Given the description of an element on the screen output the (x, y) to click on. 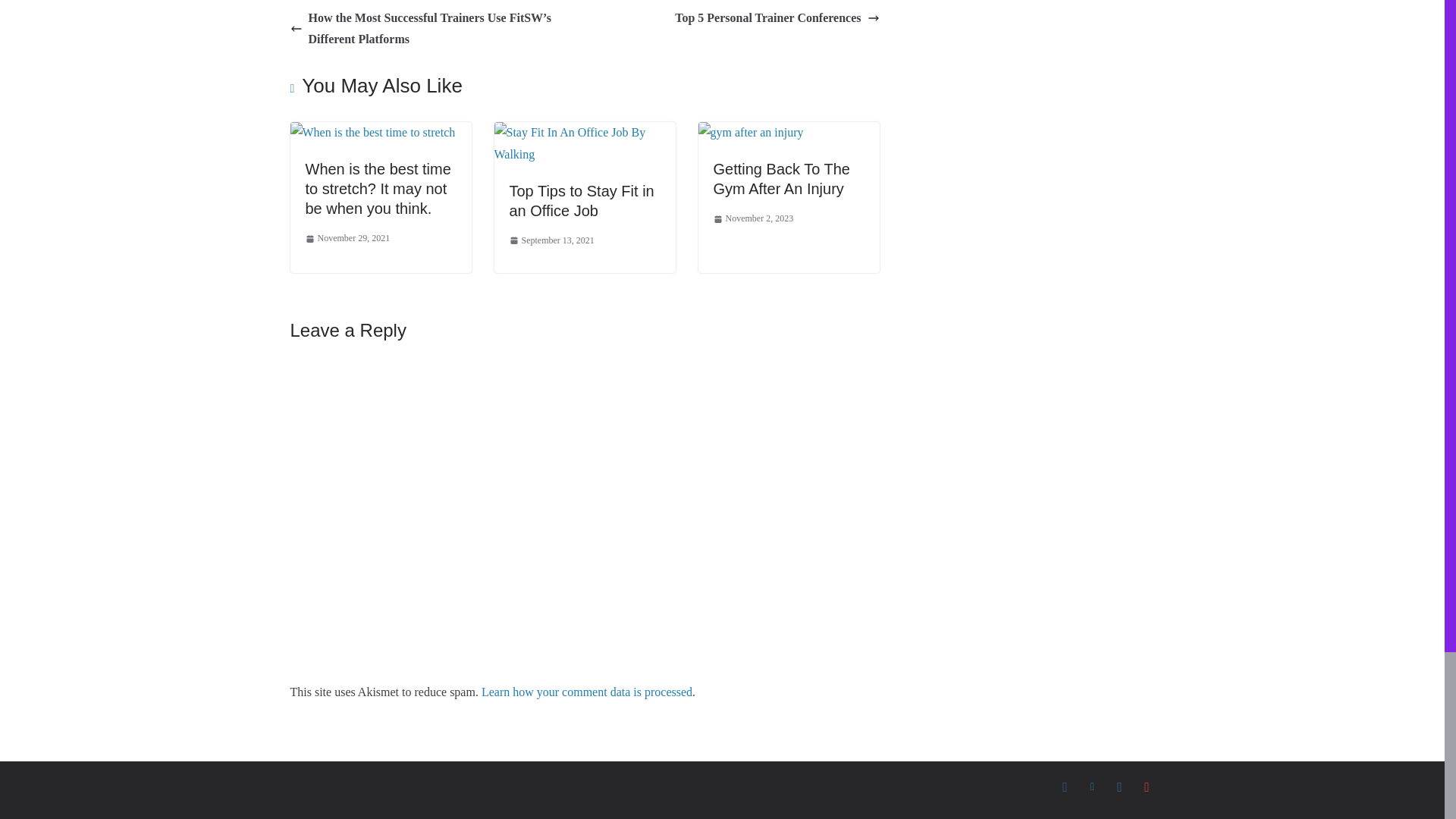
Top 5 Personal Trainer Conferences (777, 18)
September 13, 2021 (551, 240)
Top Tips to Stay Fit in an Office Job (581, 200)
6:22 pm (347, 238)
November 2, 2023 (753, 218)
Learn how your comment data is processed (587, 691)
Getting Back To The Gym After An Injury (780, 178)
November 29, 2021 (347, 238)
